Given the description of an element on the screen output the (x, y) to click on. 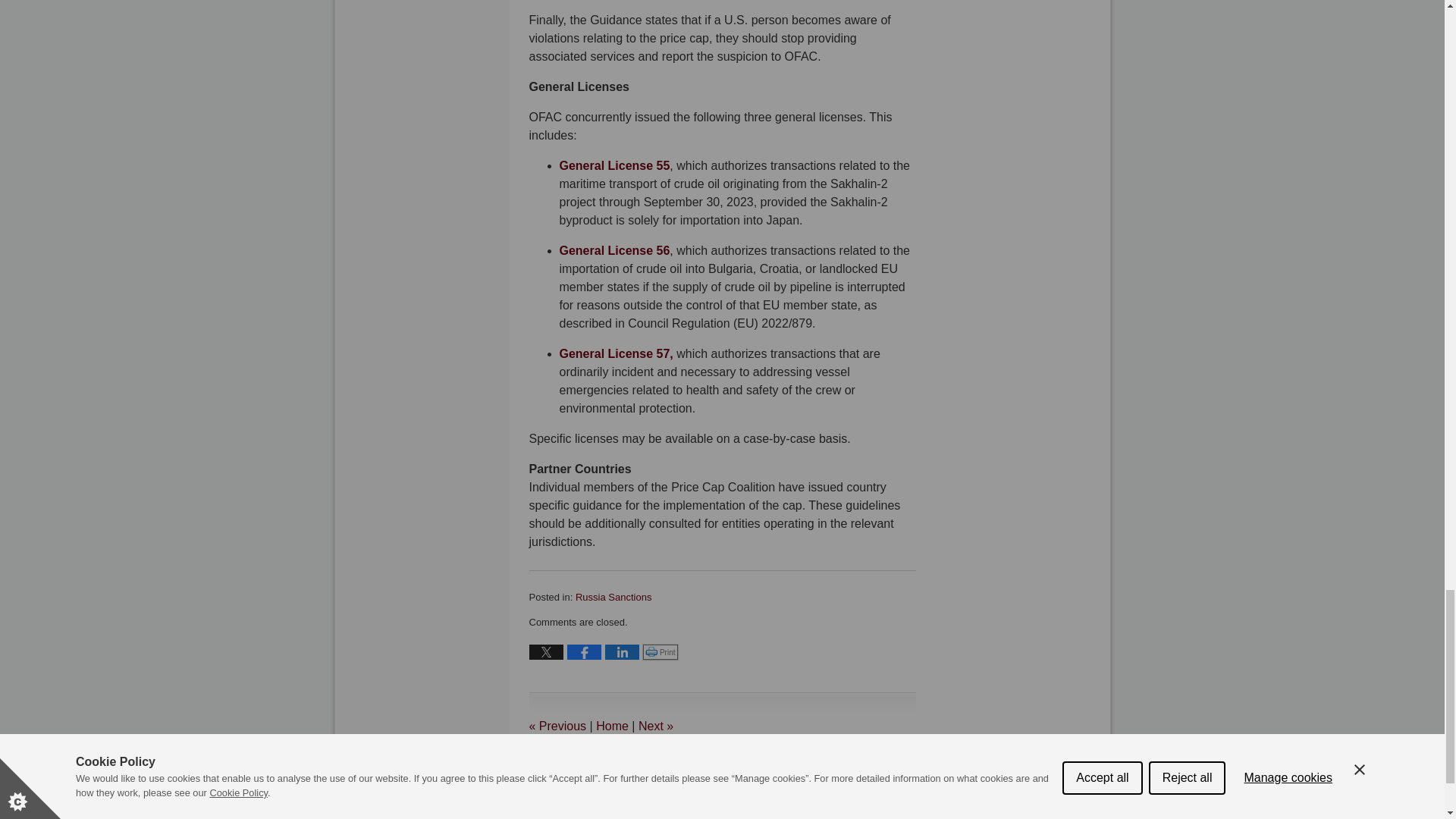
Click to print (660, 652)
View all posts in Russia Sanctions (612, 596)
Print (660, 652)
